Given the description of an element on the screen output the (x, y) to click on. 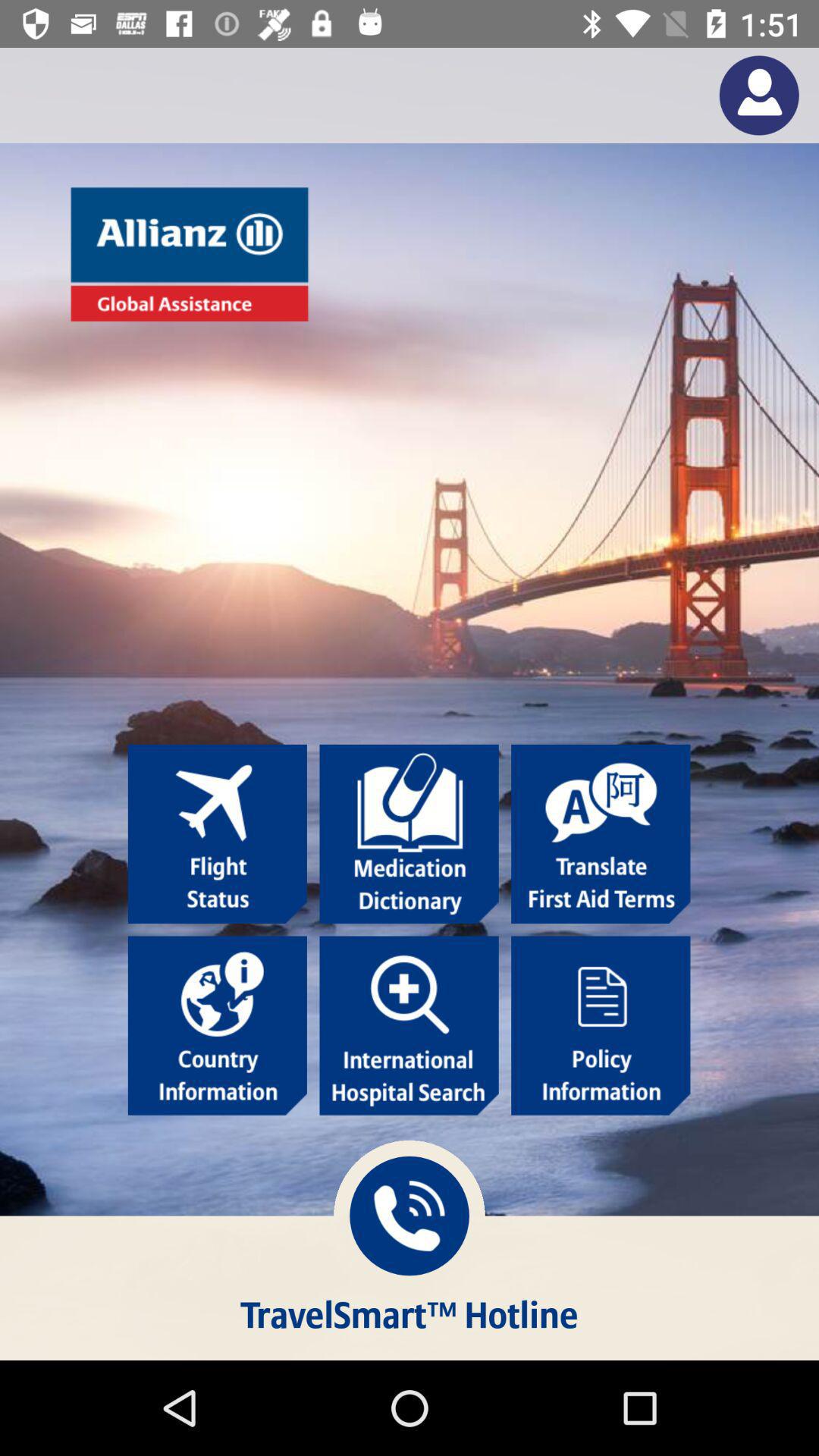
display policy information (600, 1025)
